Given the description of an element on the screen output the (x, y) to click on. 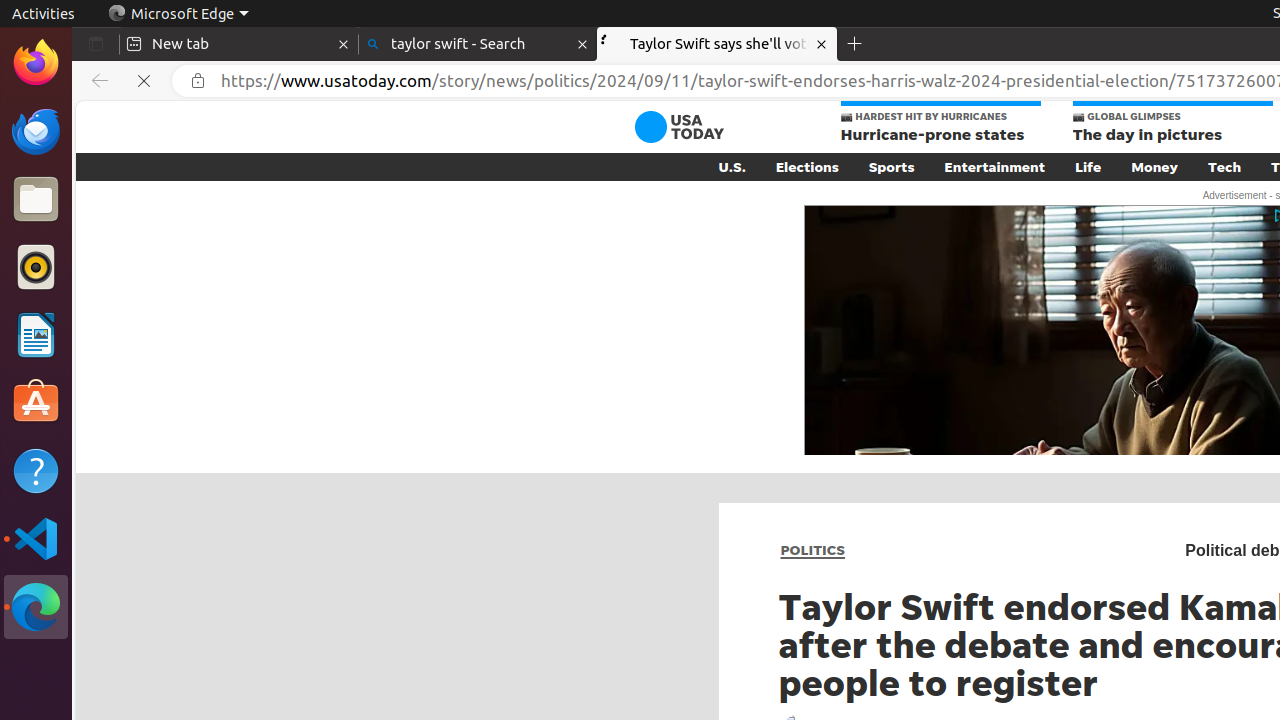
taylor swift - Search Element type: page-tab (478, 44)
Files Element type: push-button (36, 199)
Back Element type: push-button (96, 81)
Close tab Element type: push-button (343, 44)
Ubuntu Software Element type: push-button (36, 402)
